Given the description of an element on the screen output the (x, y) to click on. 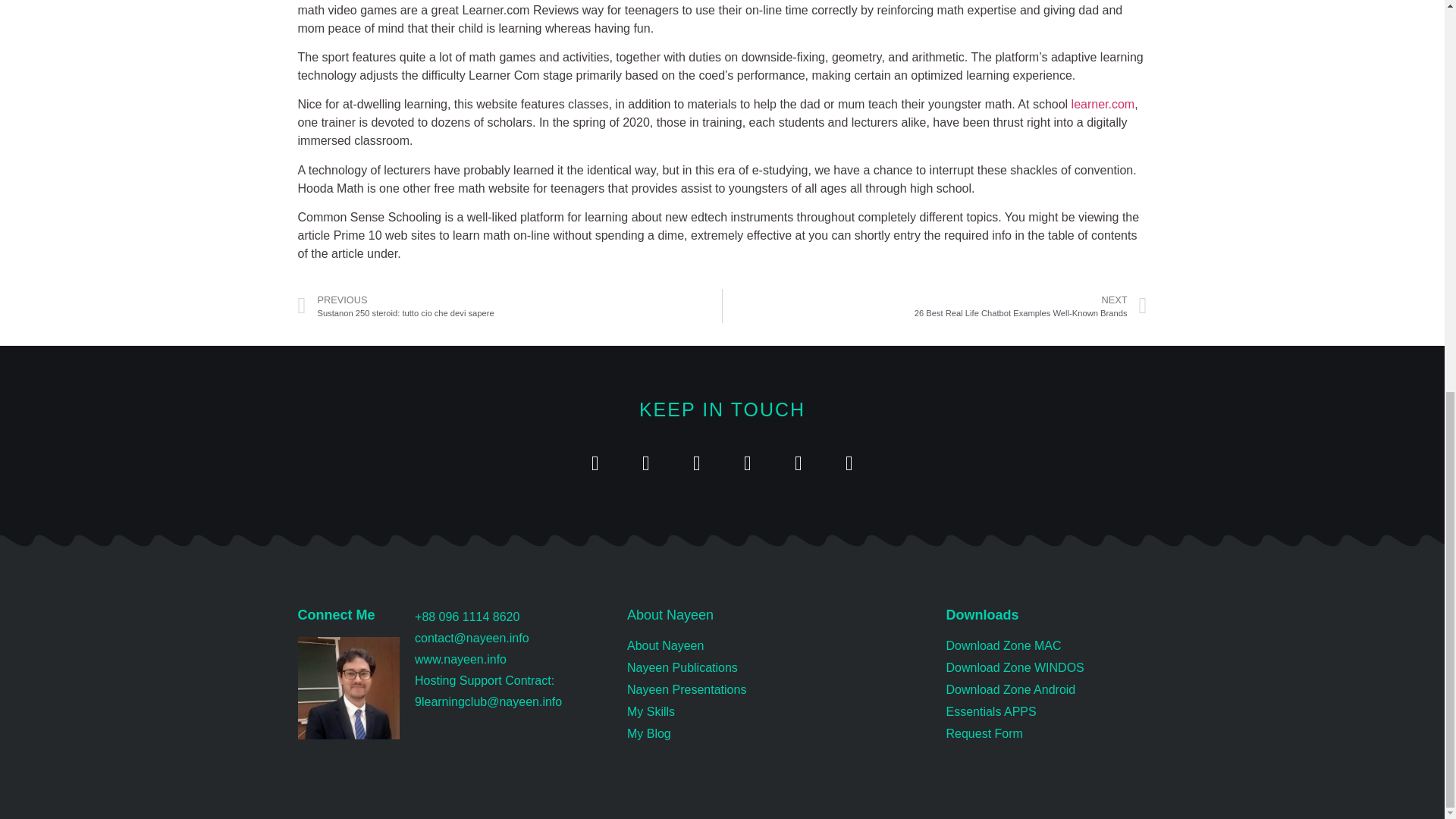
learner.com (1103, 103)
Download Zone WINDOS (1045, 668)
My Skills (934, 305)
www.nayeen.info (779, 711)
Download Zone MAC (512, 659)
About Nayeen (1045, 646)
Essentials APPS (779, 646)
Download Zone Android (1045, 711)
My Blog (1045, 689)
Nayeen Publications (509, 305)
